Given the description of an element on the screen output the (x, y) to click on. 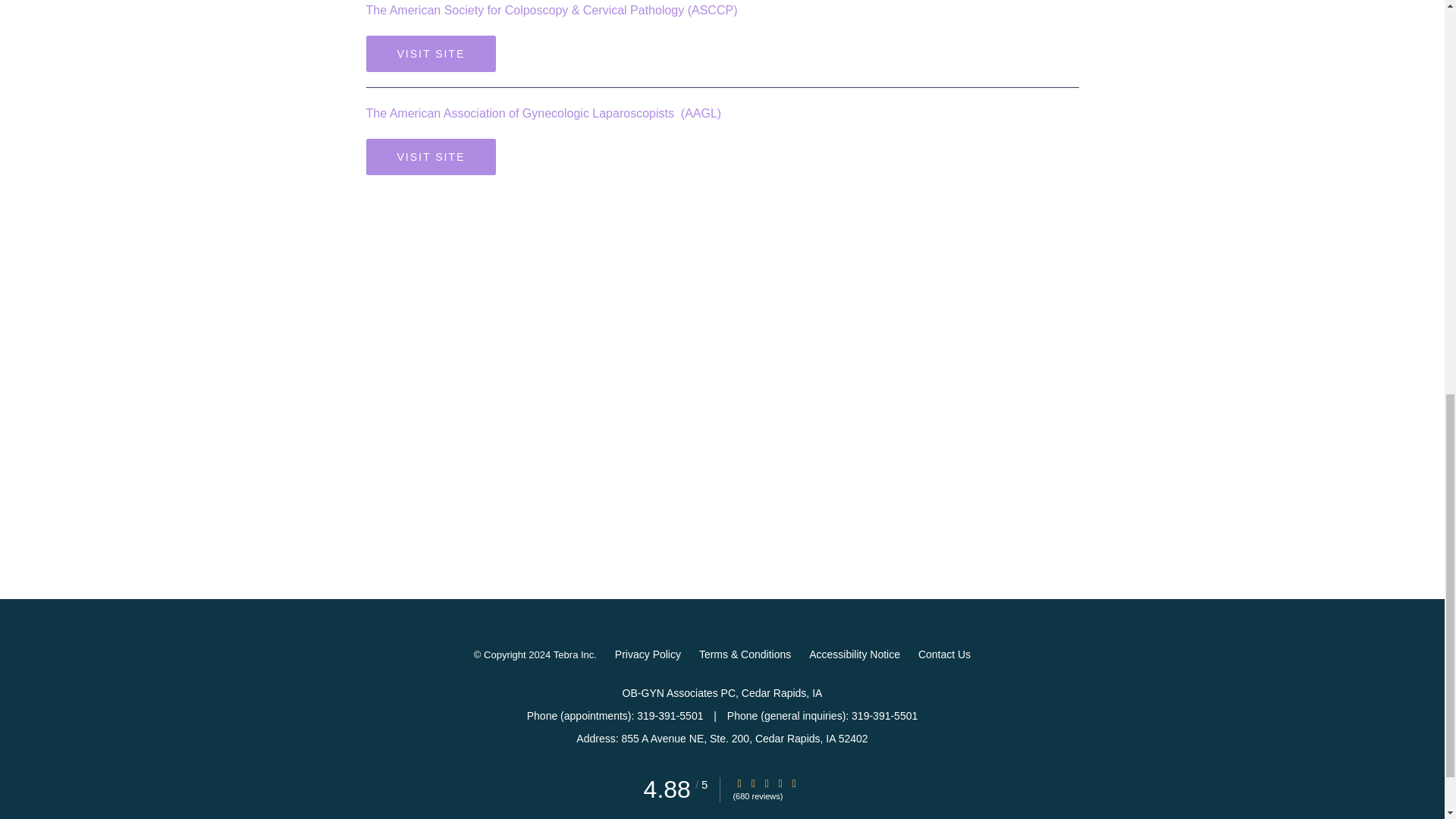
Star Rating (753, 783)
Star Rating (766, 783)
Star Rating (738, 783)
Star Rating (780, 783)
Star Rating (794, 783)
